Given the description of an element on the screen output the (x, y) to click on. 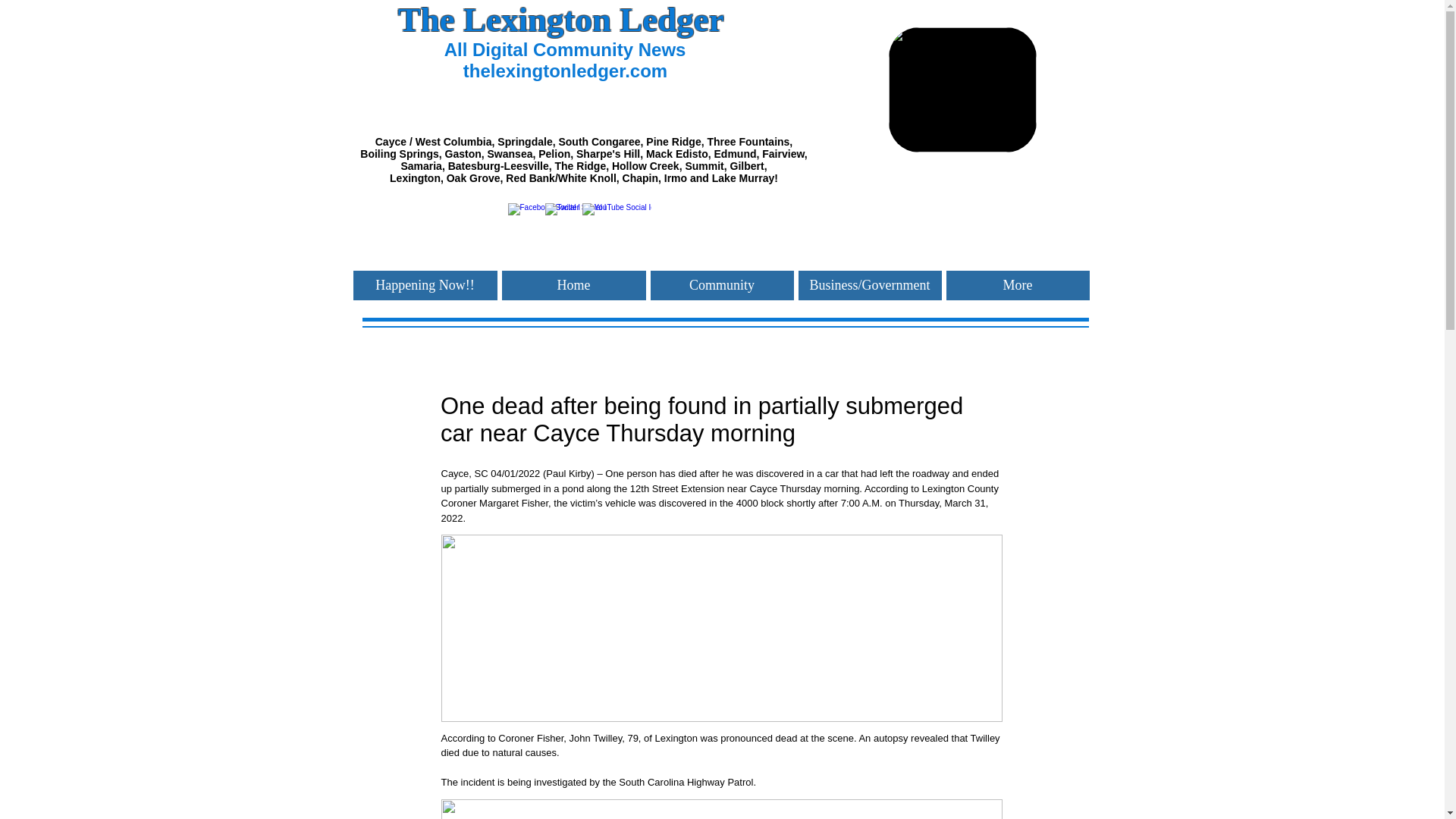
Happening Now!! (425, 285)
Home (574, 285)
Community (721, 285)
